Given the description of an element on the screen output the (x, y) to click on. 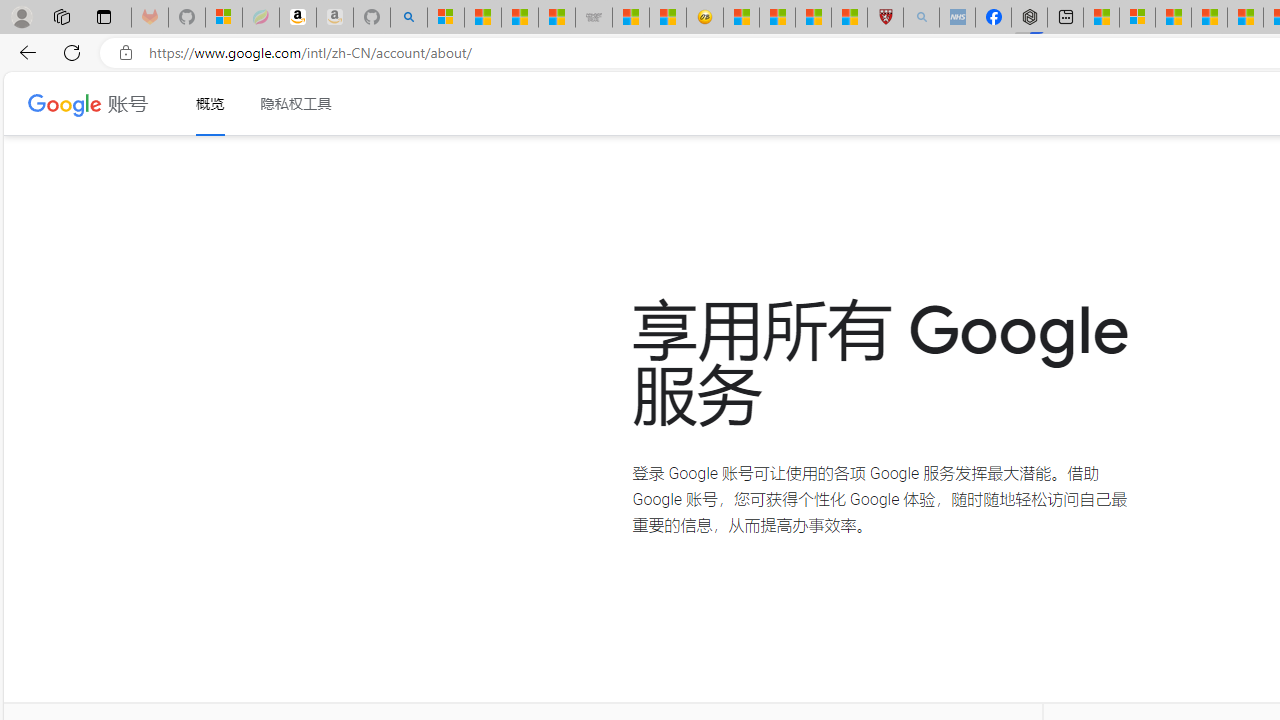
Fitness - MSN (1245, 17)
